Given the description of an element on the screen output the (x, y) to click on. 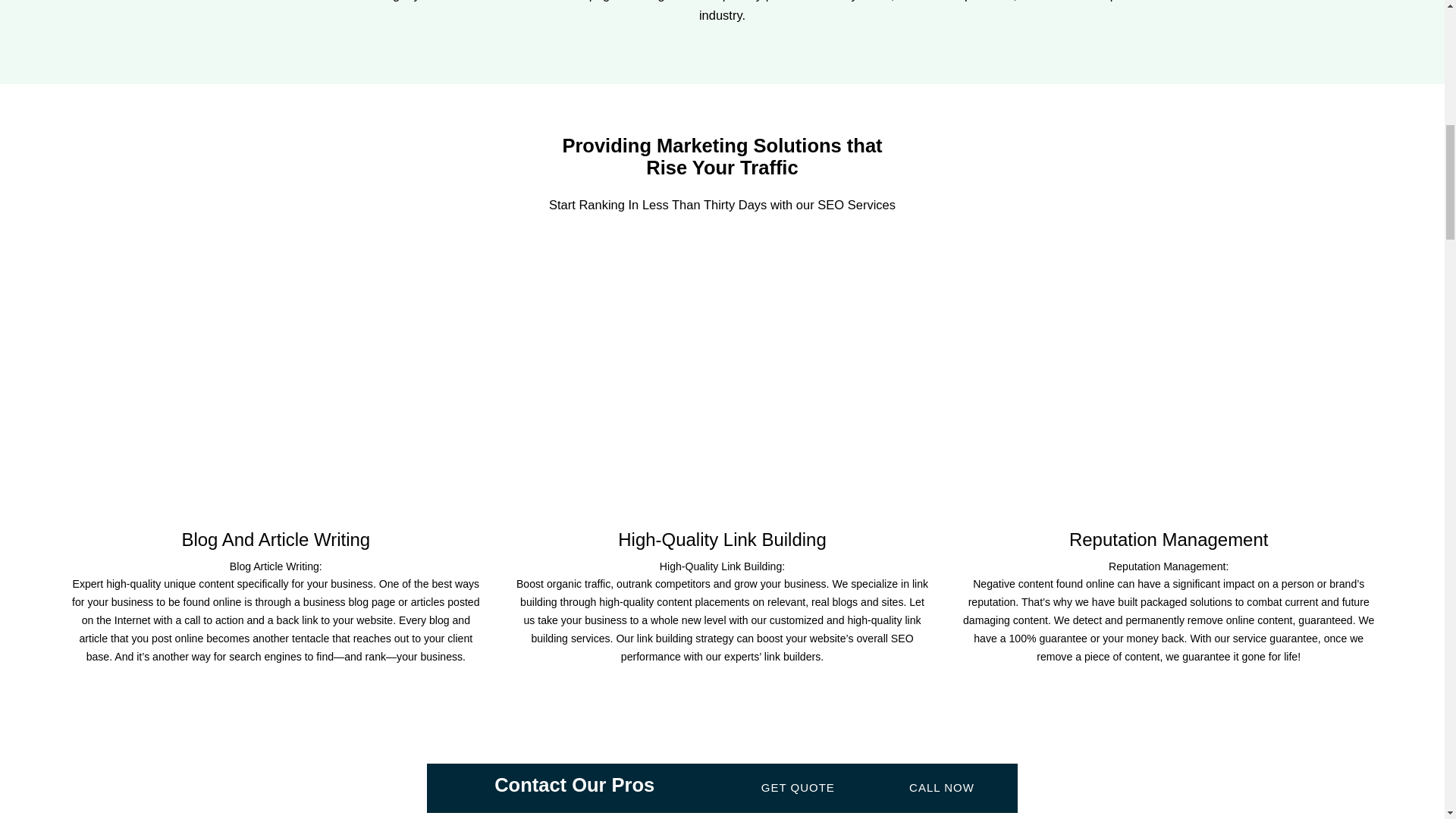
High-Quality Link Building: (721, 566)
High-Quality Link Building (721, 401)
Reputation Management: (1168, 566)
